Given the description of an element on the screen output the (x, y) to click on. 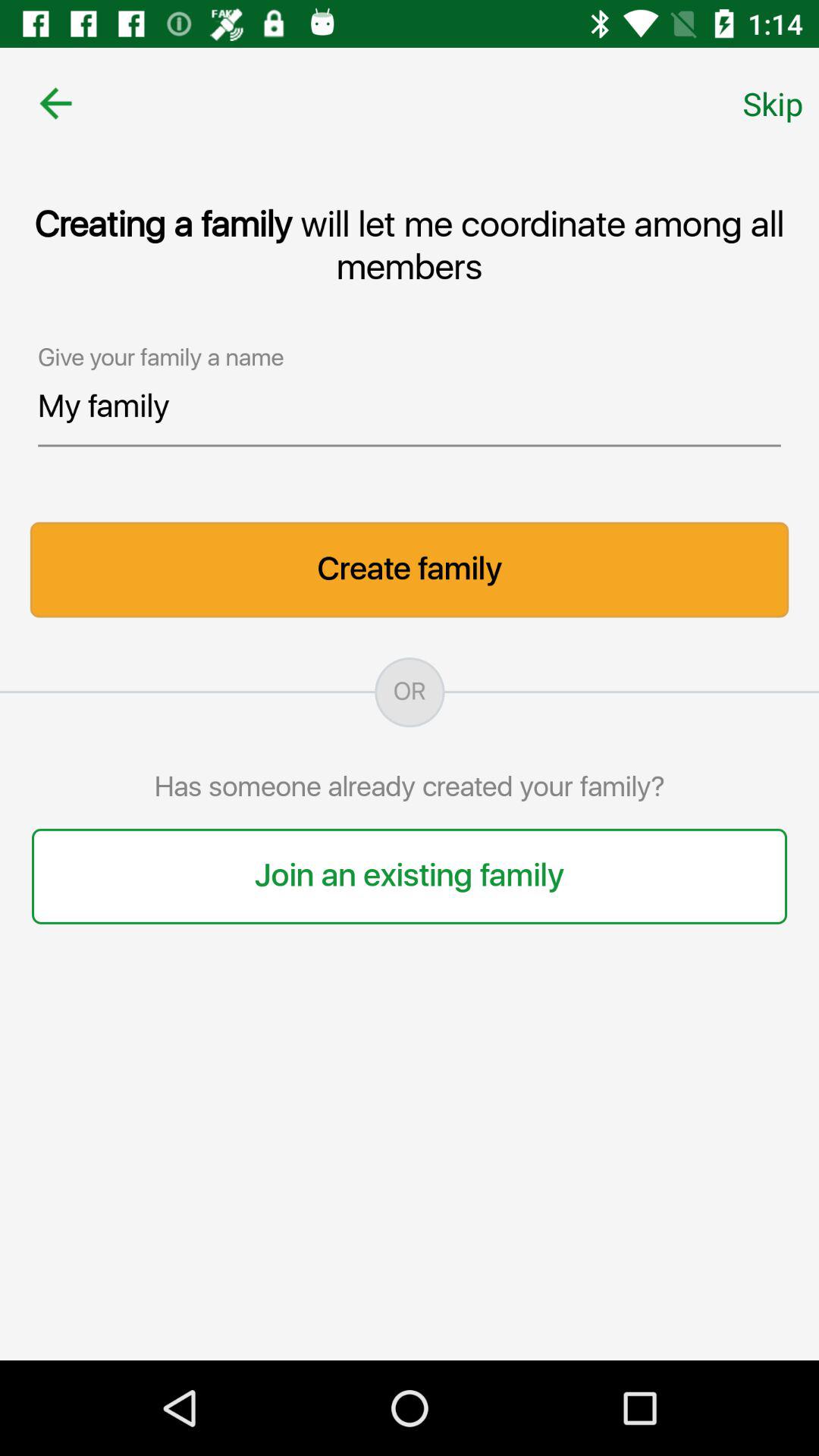
click the icon above creating a family item (55, 103)
